Given the description of an element on the screen output the (x, y) to click on. 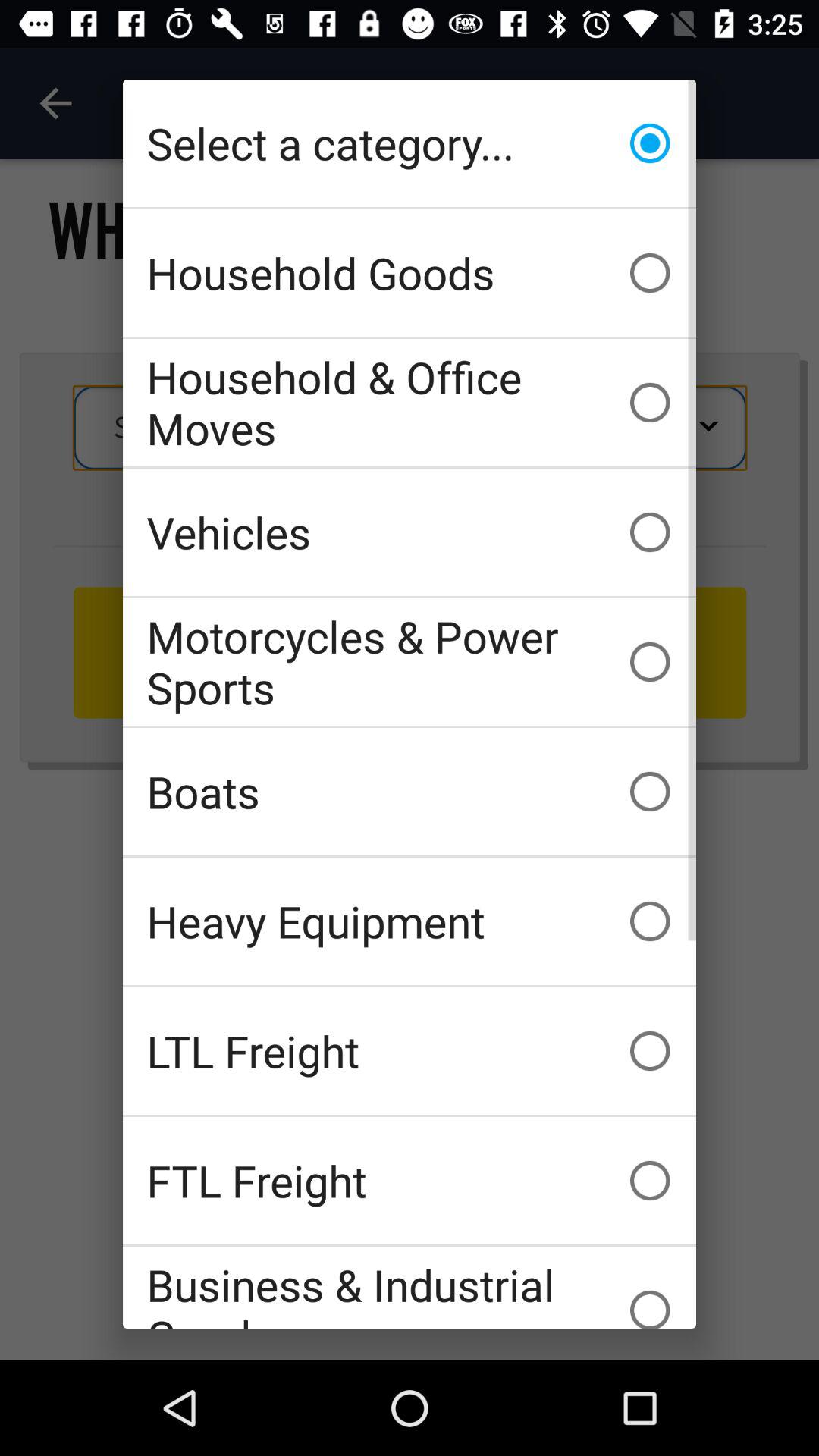
click the business & industrial goods (409, 1287)
